Given the description of an element on the screen output the (x, y) to click on. 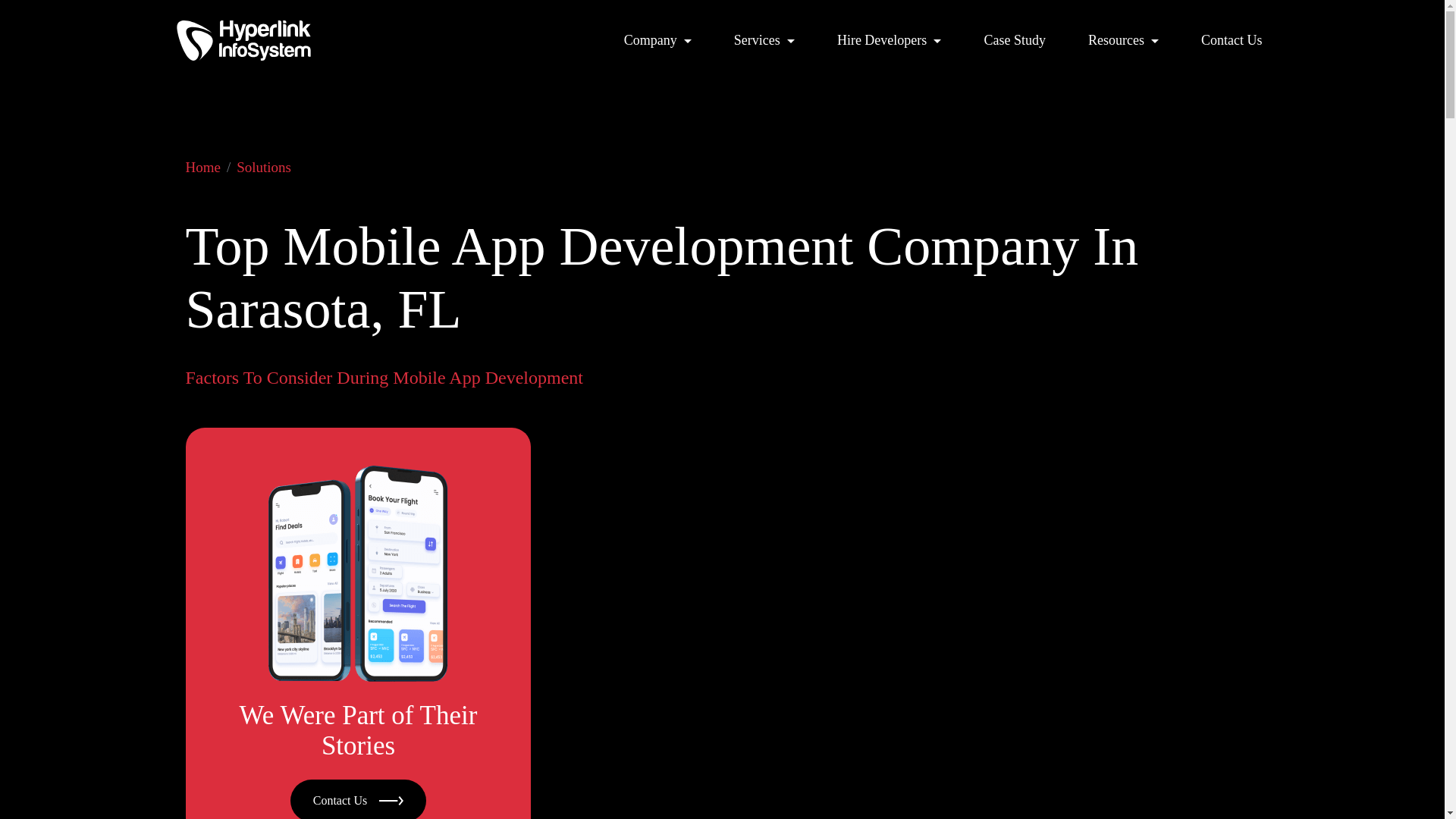
Company (657, 40)
Services (764, 40)
